Given the description of an element on the screen output the (x, y) to click on. 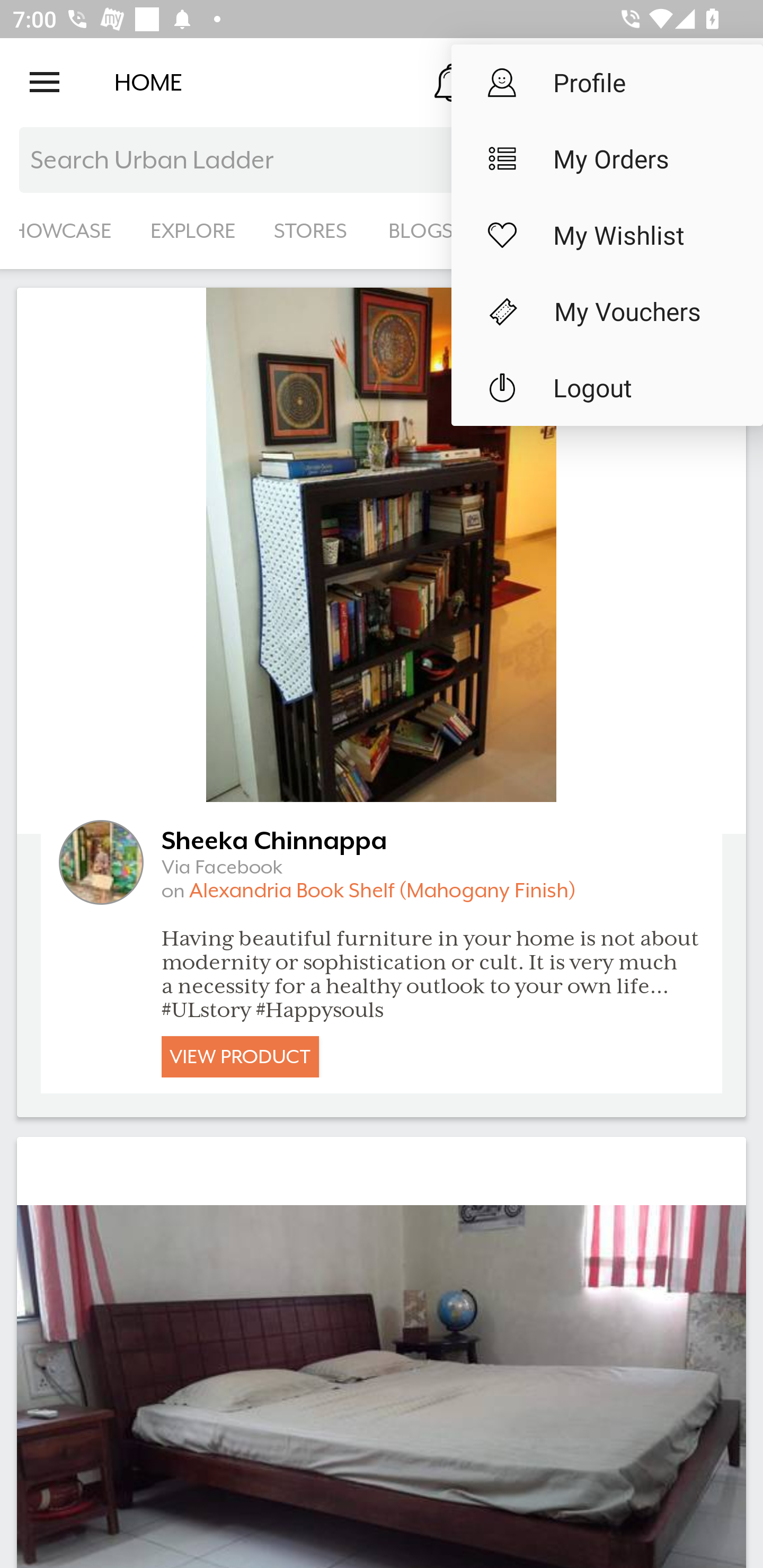
Profile (607, 81)
My Orders (607, 158)
My Wishlist (607, 234)
My Vouchers (607, 310)
Logout (607, 387)
